Given the description of an element on the screen output the (x, y) to click on. 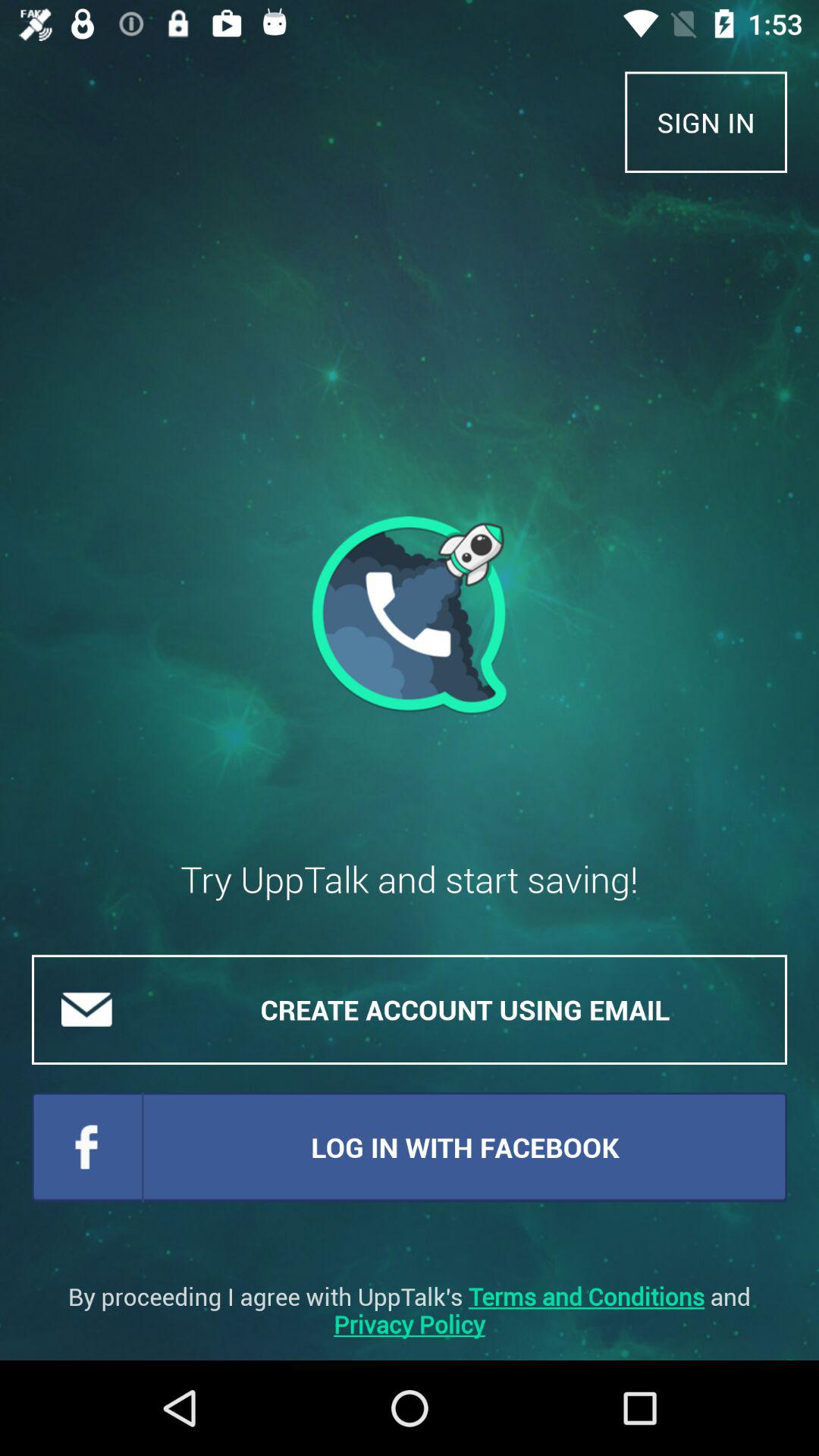
select the by proceeding i item (409, 1310)
